Given the description of an element on the screen output the (x, y) to click on. 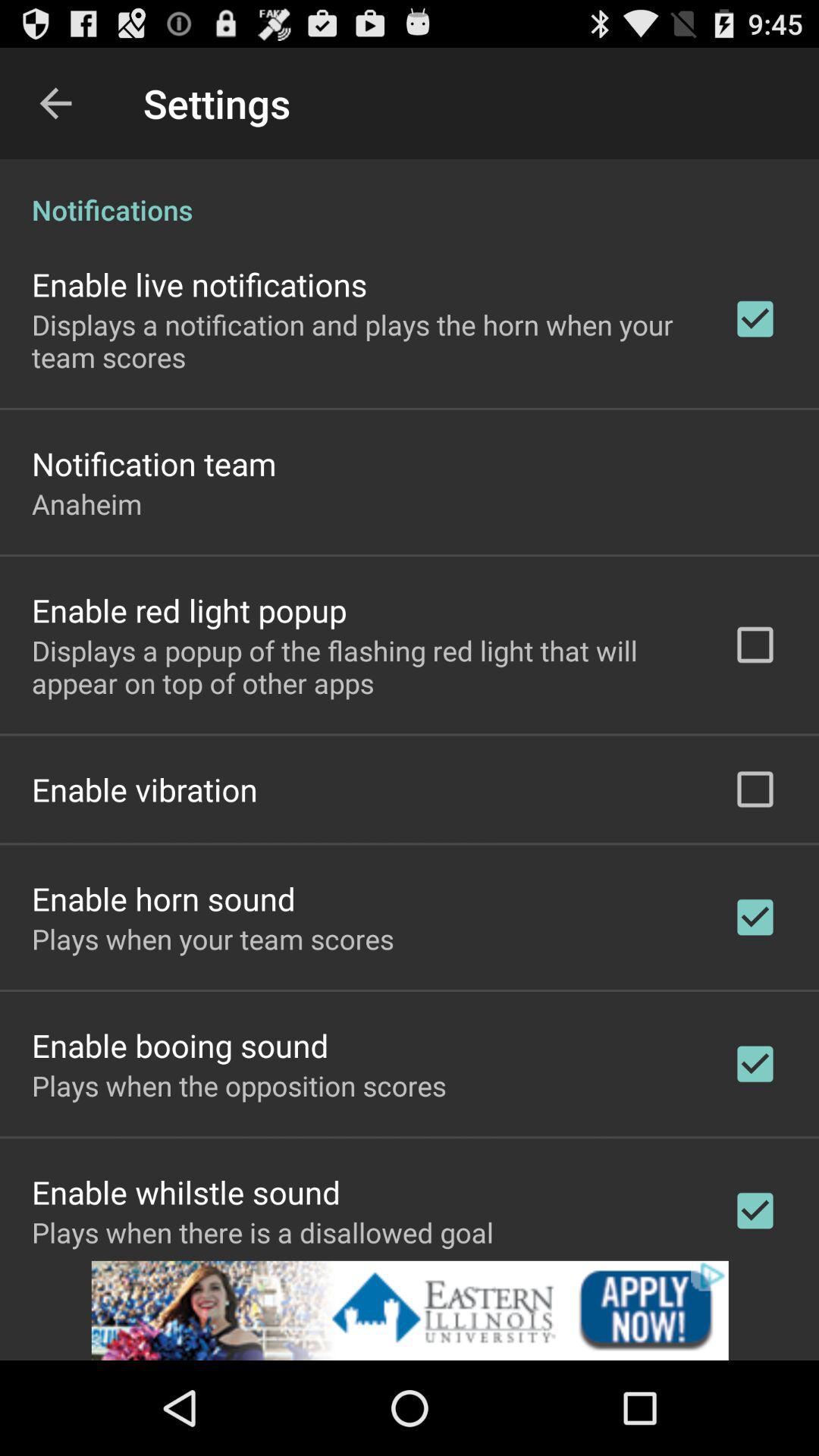
look at the advertisement (409, 1310)
